Given the description of an element on the screen output the (x, y) to click on. 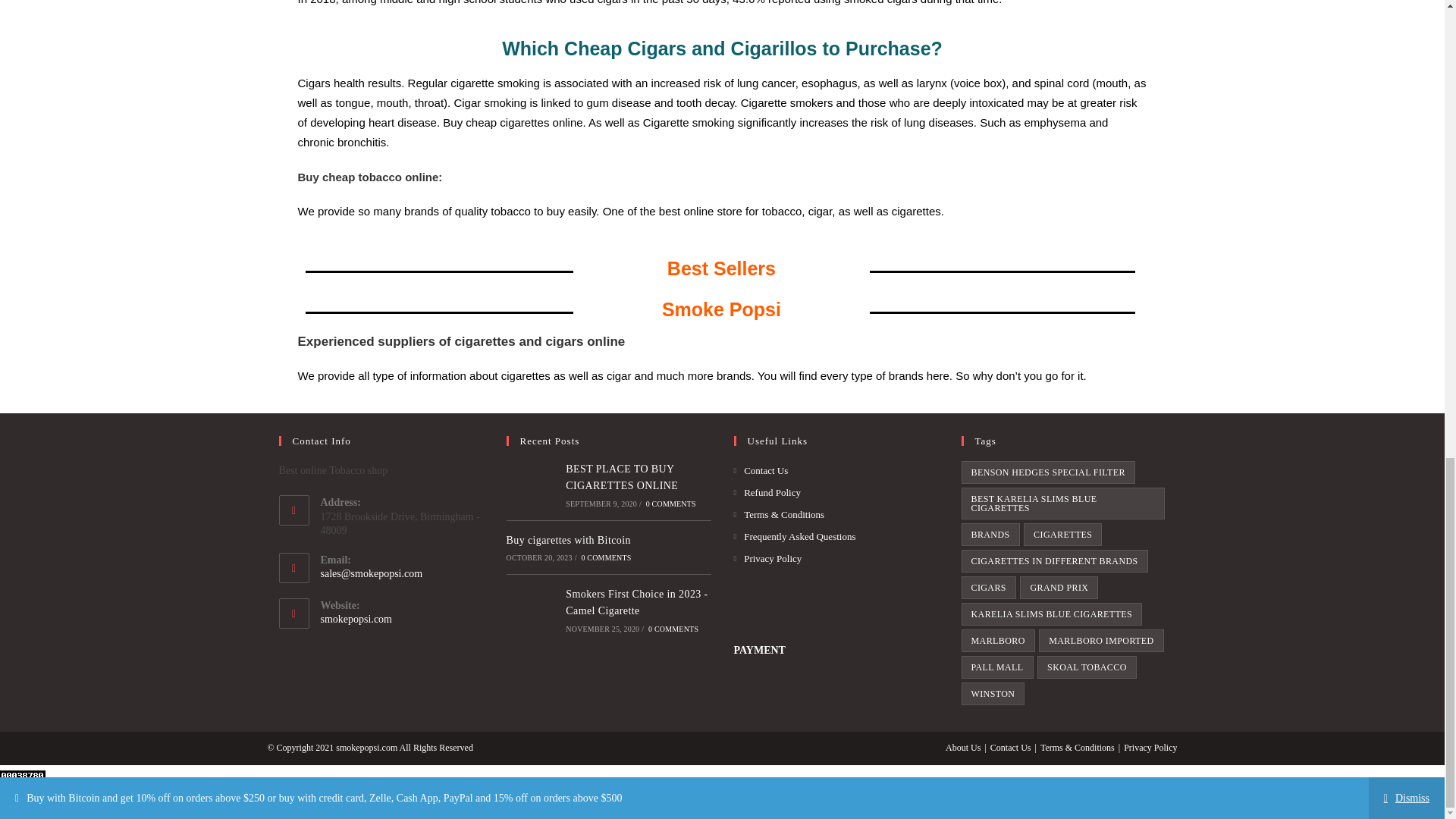
Frequently Asked Questions (794, 536)
Smokers First Choice in 2023 -Camel Cigarette (636, 602)
0 COMMENTS (672, 628)
Refund Policy (766, 492)
Buy cigarettes with Bitcoin (568, 539)
BENSON HEDGES SPECIAL FILTER (1047, 472)
BEST PLACE TO BUY CIGARETTES ONLINE (622, 477)
Privacy Policy (767, 558)
Contact Us (761, 470)
smokepopsi.com (355, 618)
0 COMMENTS (670, 502)
0 COMMENTS (605, 557)
